Given the description of an element on the screen output the (x, y) to click on. 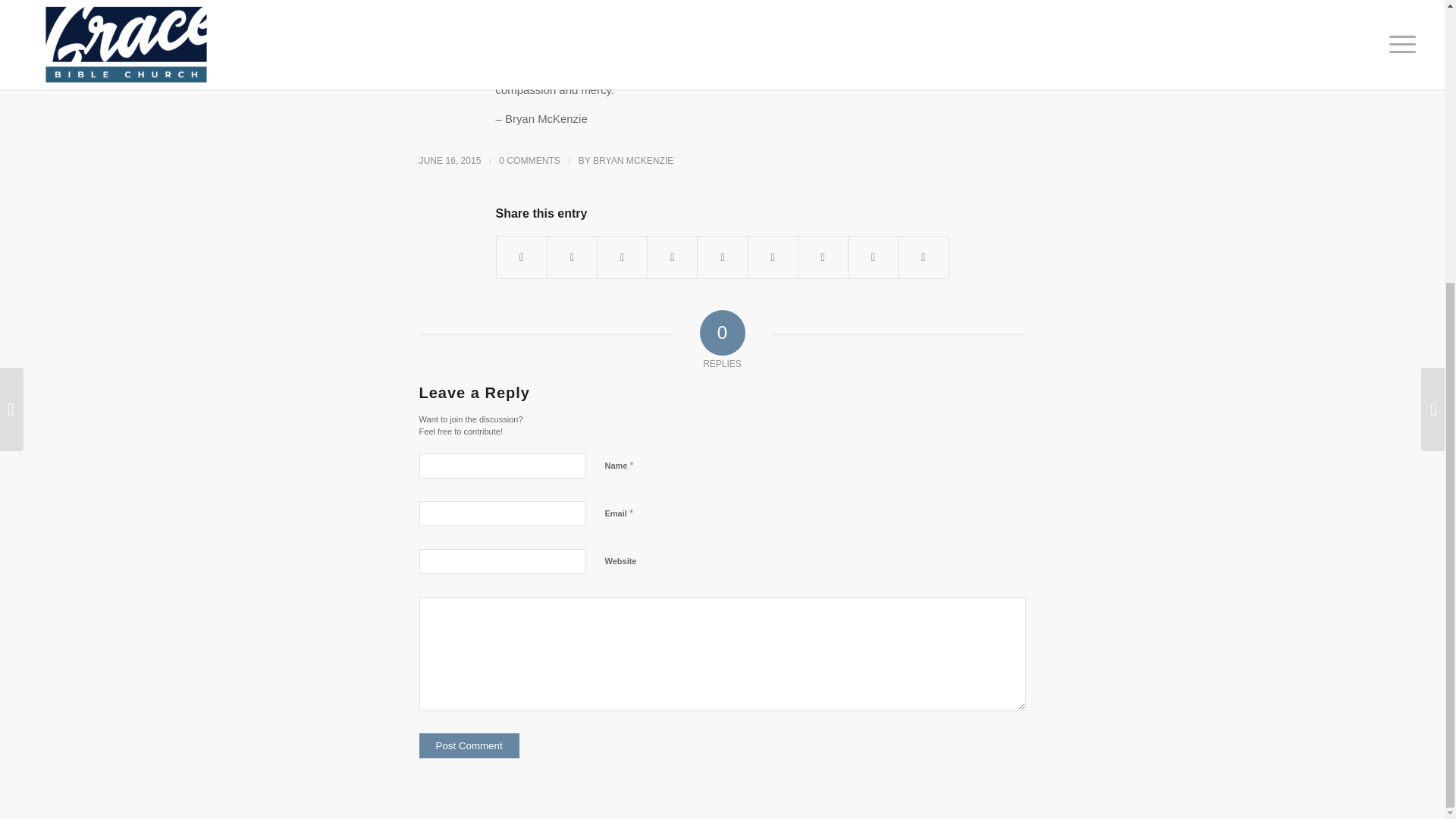
Post Comment (468, 745)
Post Comment (468, 745)
0 COMMENTS (529, 160)
Posts by Bryan McKenzie (632, 160)
BRYAN MCKENZIE (632, 160)
